Given the description of an element on the screen output the (x, y) to click on. 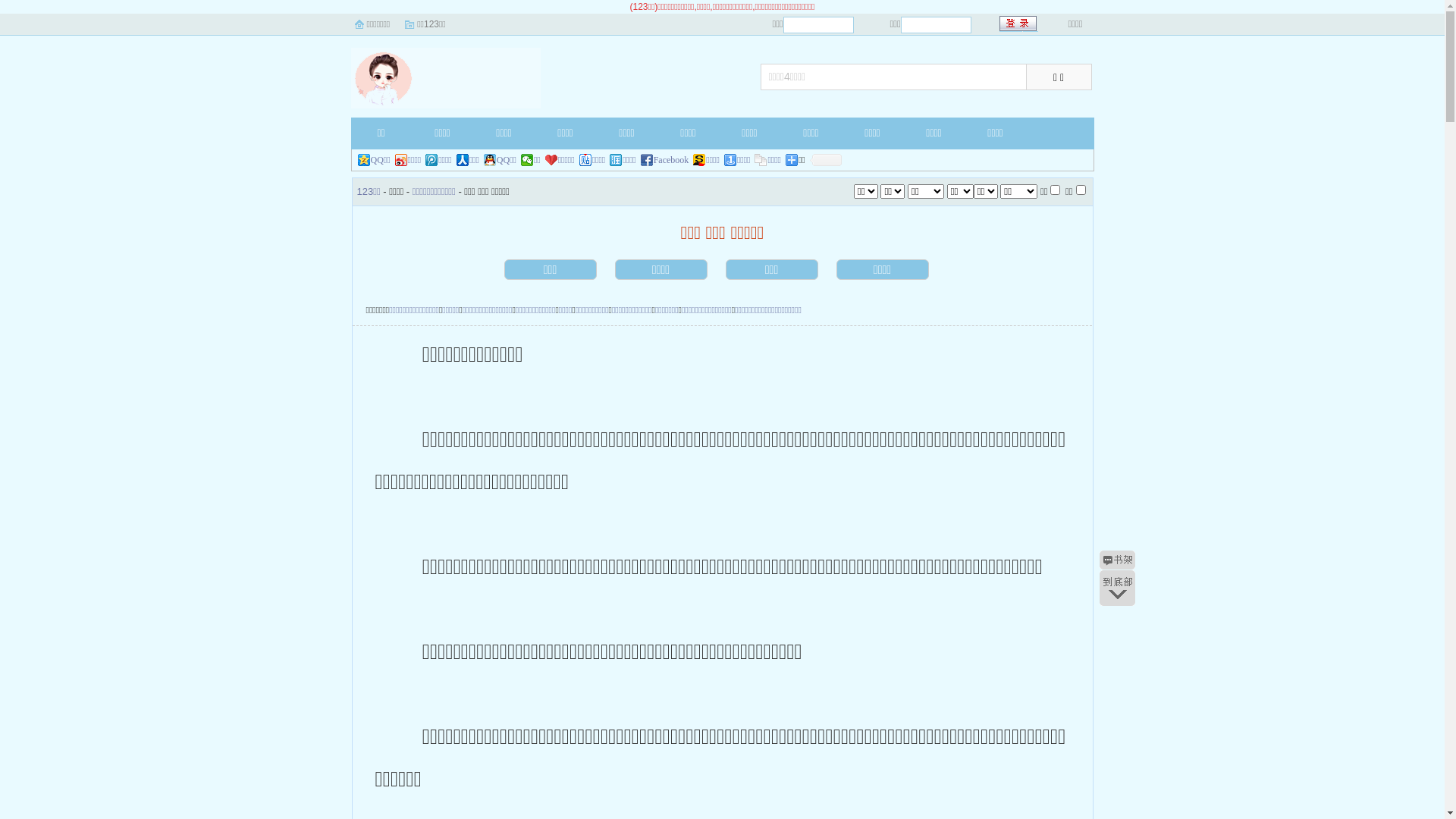
Facebook Element type: text (664, 159)
